Given the description of an element on the screen output the (x, y) to click on. 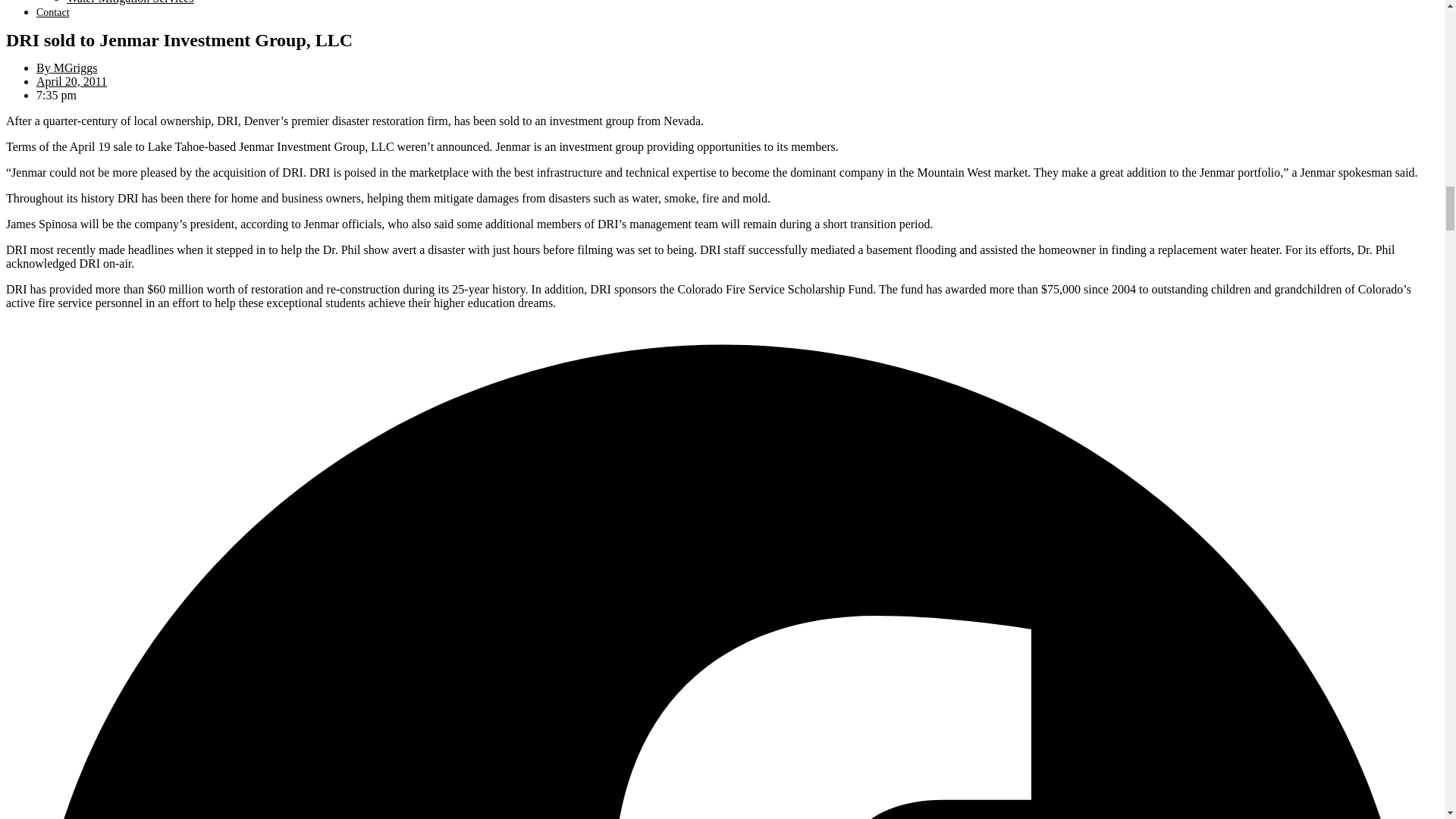
By MGriggs (66, 67)
Contact (52, 12)
Water Mitigation Services (129, 2)
April 20, 2011 (71, 81)
